Given the description of an element on the screen output the (x, y) to click on. 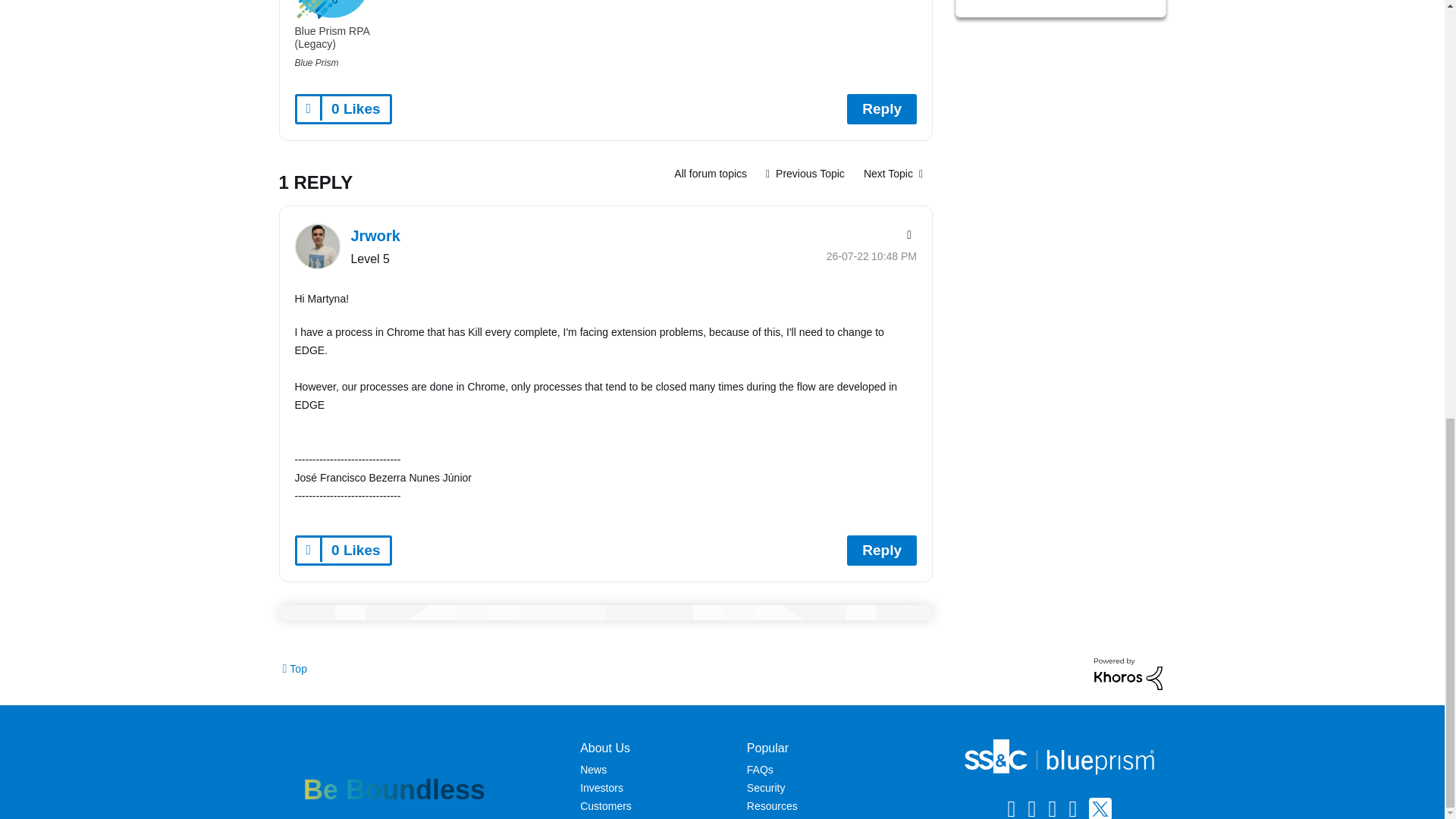
Product Forum (710, 173)
Click here to give likes to this post. (310, 108)
Top (293, 667)
The total number of likes this post has received. (354, 109)
Top (293, 667)
